Given the description of an element on the screen output the (x, y) to click on. 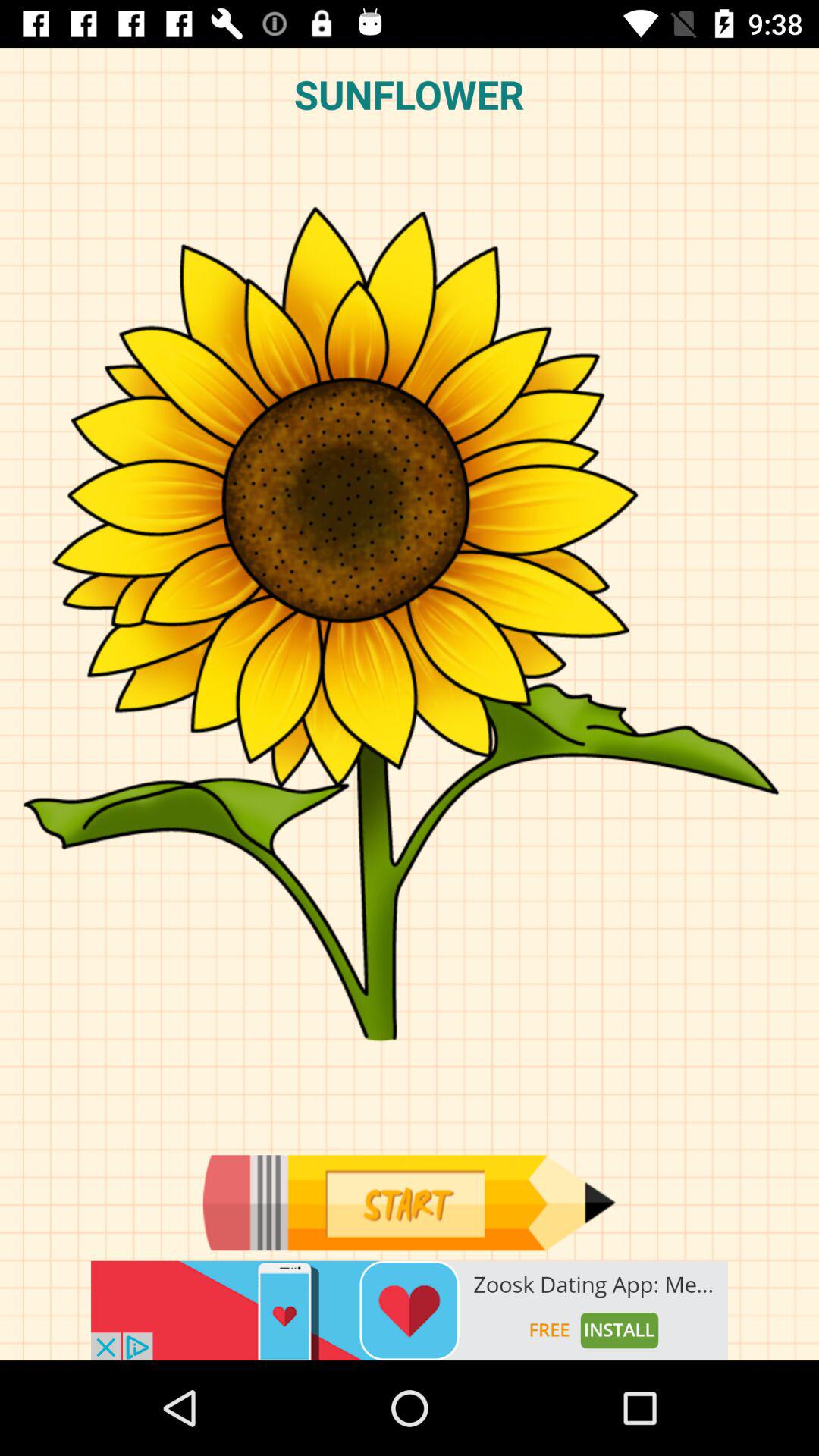
start go box (409, 1202)
